Given the description of an element on the screen output the (x, y) to click on. 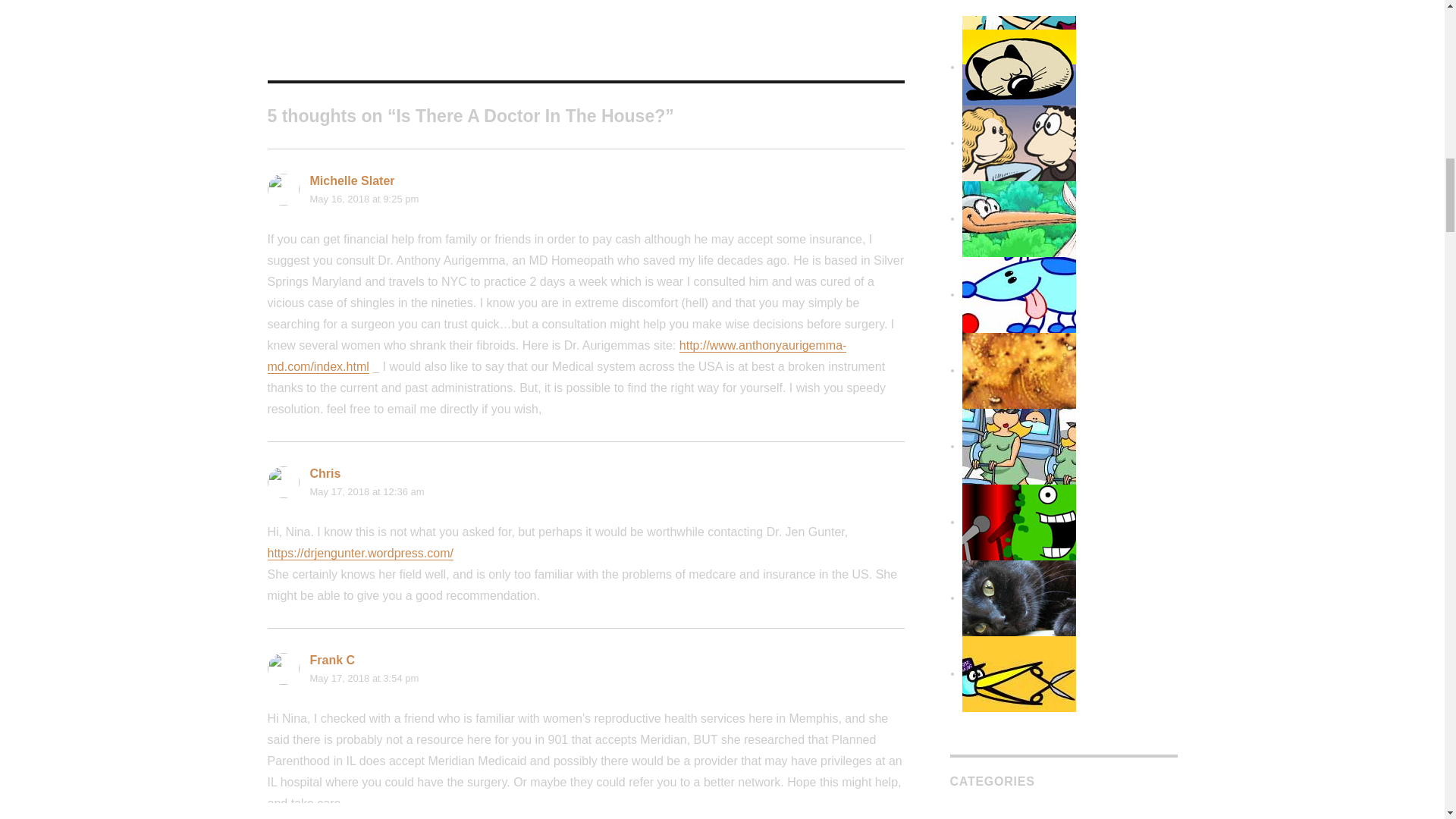
May 17, 2018 at 12:36 am (365, 491)
Michelle Slater (351, 180)
May 17, 2018 at 3:54 pm (363, 677)
May 16, 2018 at 9:25 pm (363, 198)
